Given the description of an element on the screen output the (x, y) to click on. 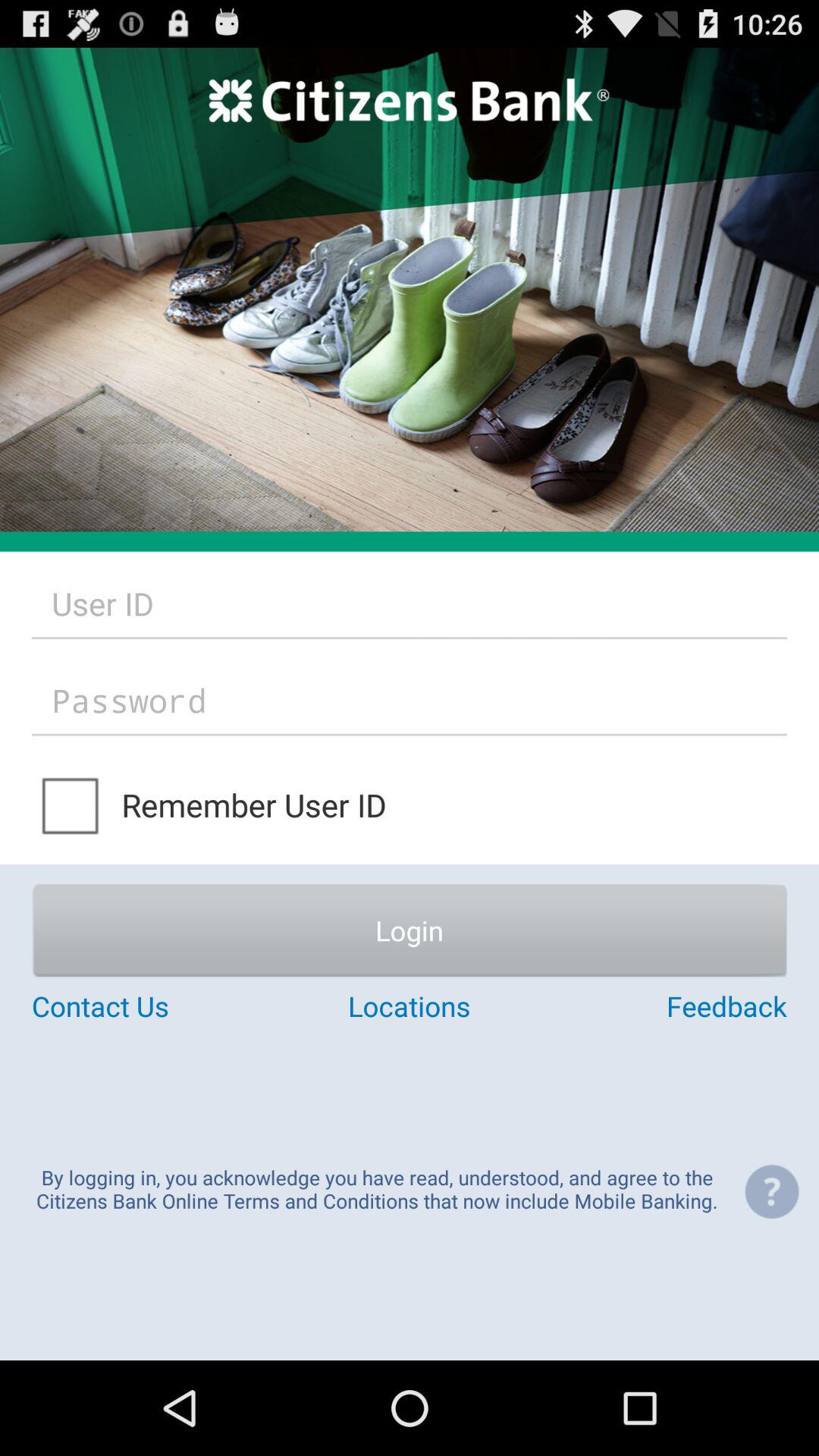
click the item to the right of the by logging in icon (771, 1191)
